Given the description of an element on the screen output the (x, y) to click on. 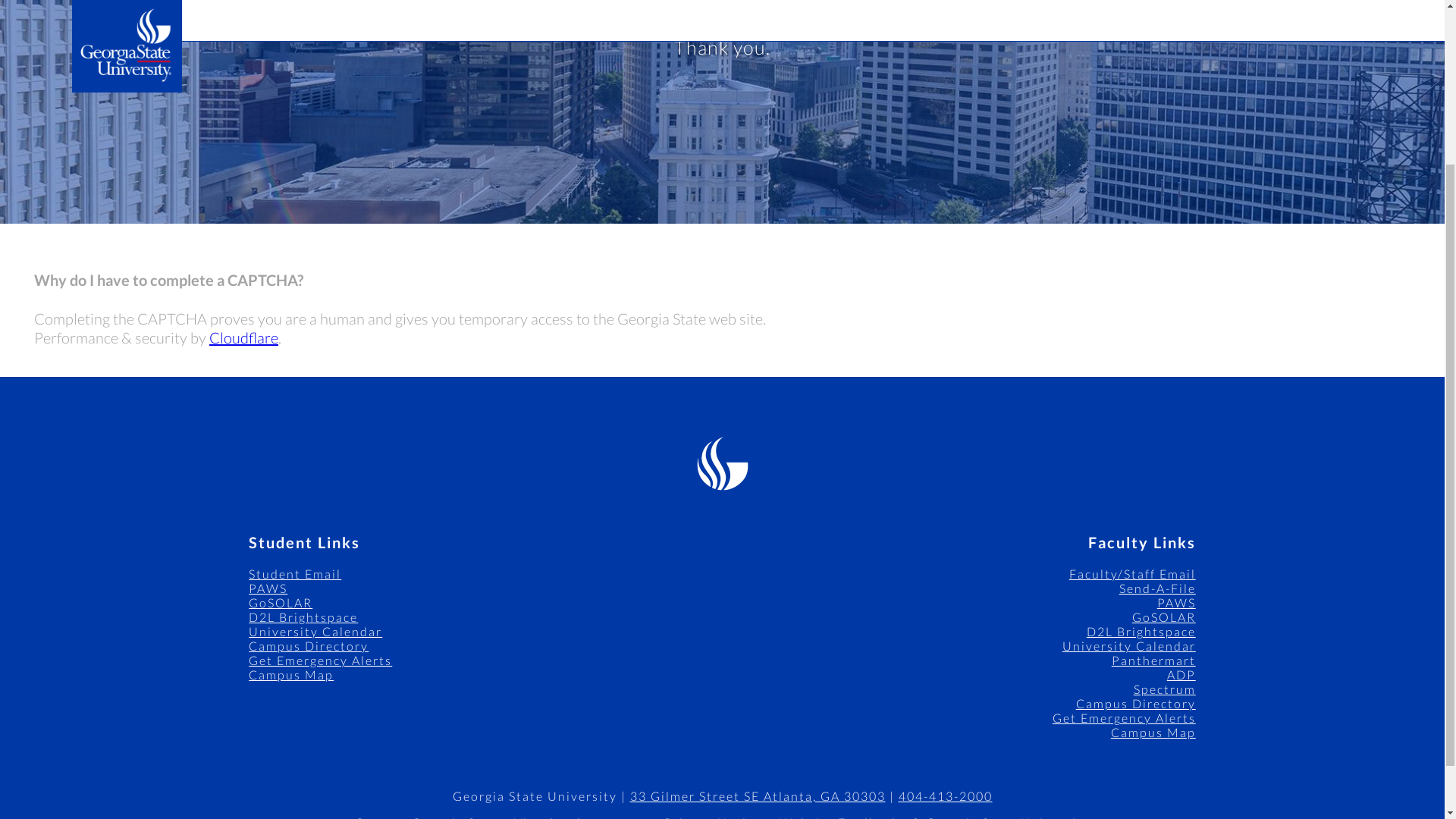
Campus Map (1152, 731)
GoSOLAR (280, 602)
404-413-2000 (944, 795)
Cloudflare (243, 337)
Send-A-File (1157, 587)
Spectrum (1164, 688)
GoSOLAR (1163, 616)
Student Email (294, 573)
PAWS (267, 587)
D2L Brightspace (1140, 631)
